Given the description of an element on the screen output the (x, y) to click on. 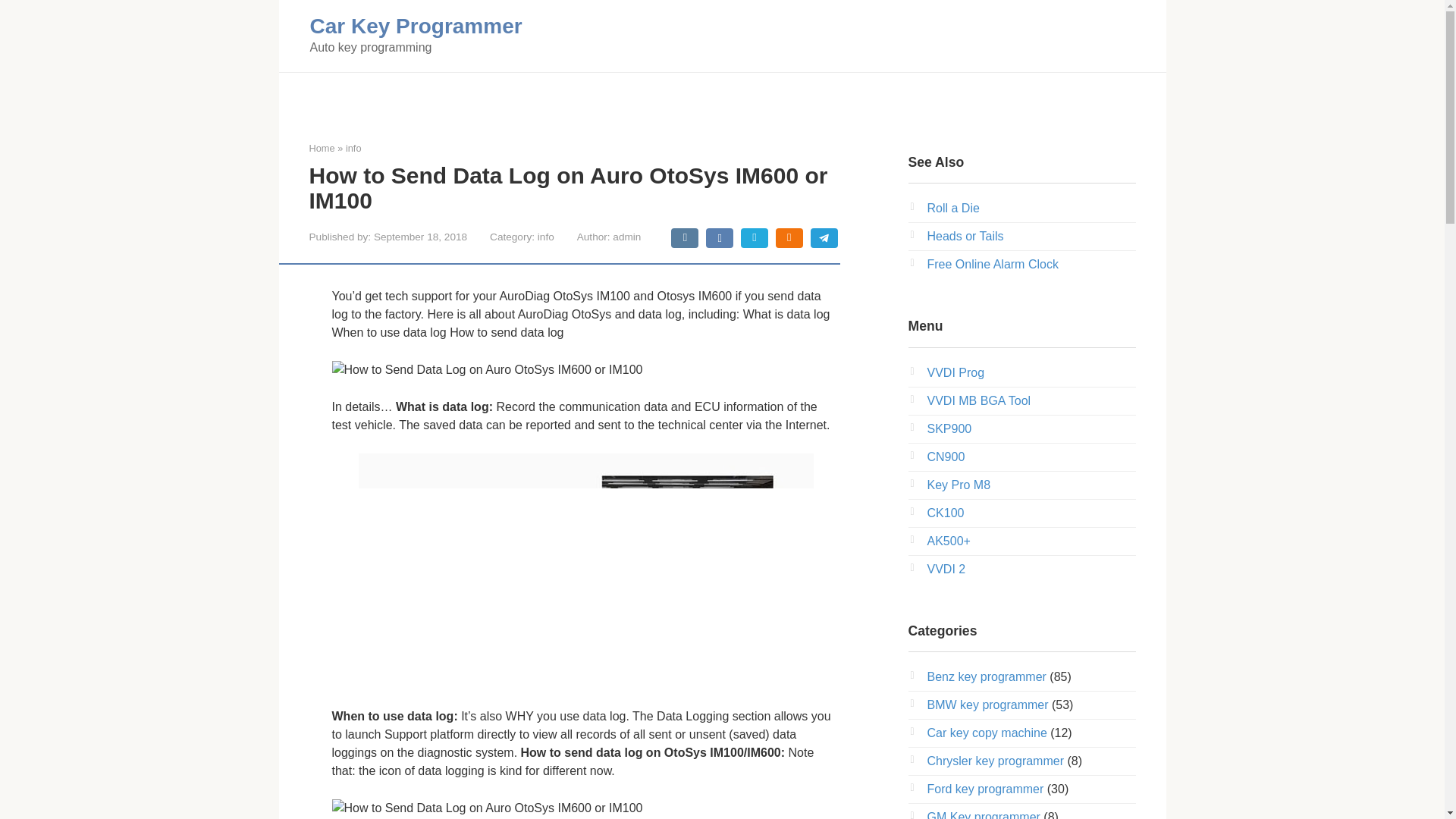
Car key copy machine (986, 732)
BMW key programmer (987, 704)
Chrysler key programmer (994, 760)
info (353, 147)
info (545, 236)
VVDI MB BGA Tool (978, 400)
Car Key Programmer (414, 25)
Heads or Tails (964, 236)
CK100 (944, 512)
SKP900 (948, 428)
